Given the description of an element on the screen output the (x, y) to click on. 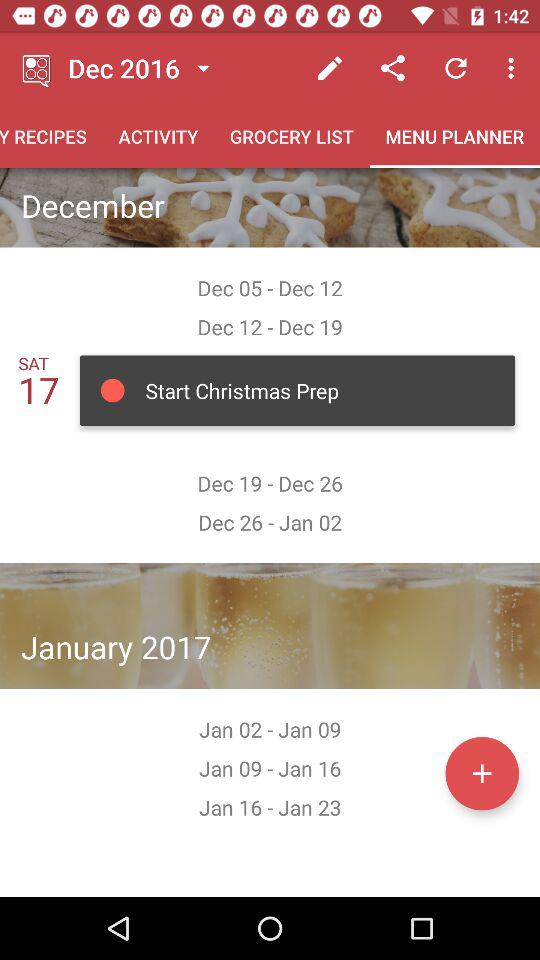
add menu (482, 773)
